Given the description of an element on the screen output the (x, y) to click on. 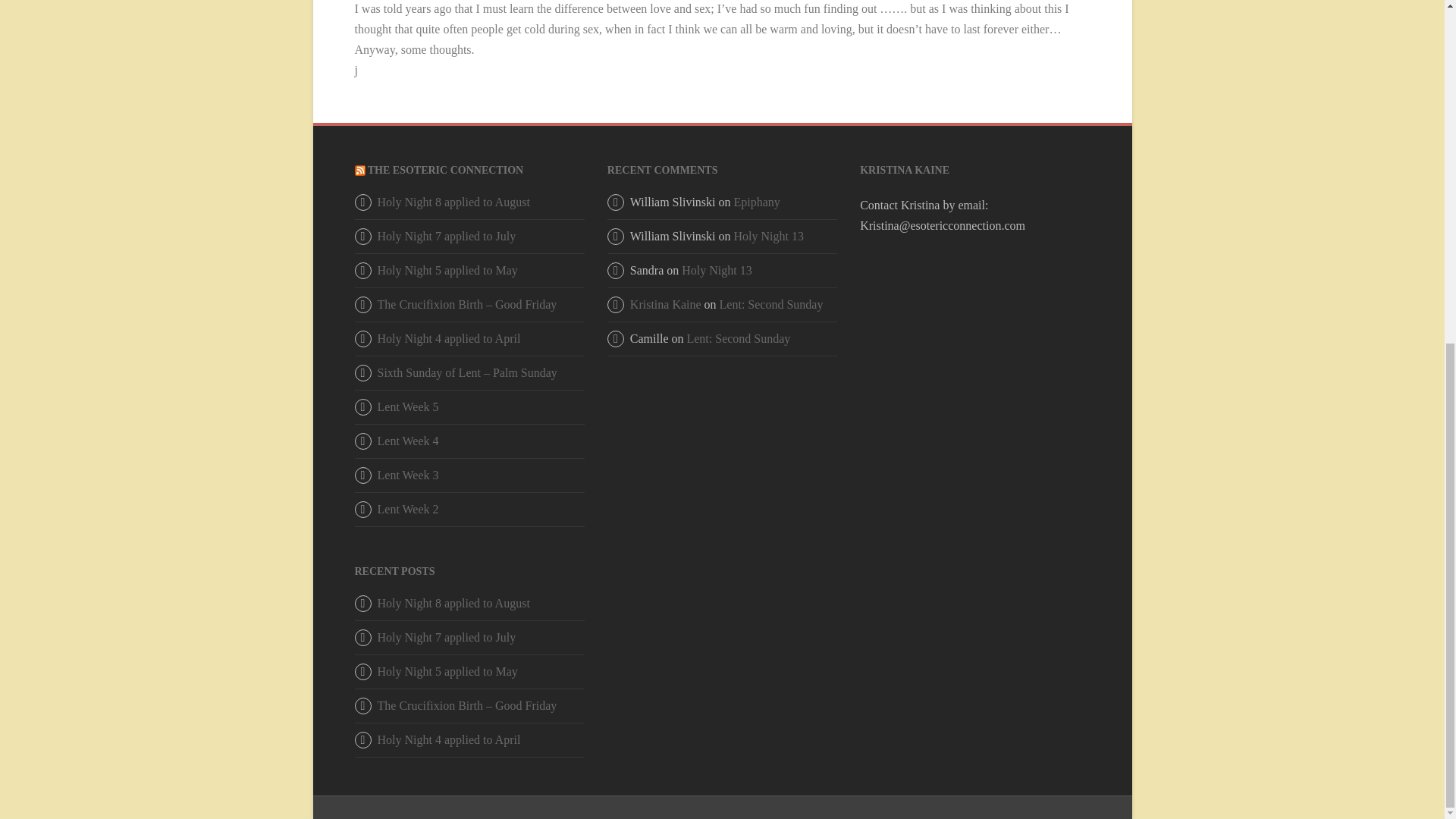
Holy Night 7 applied to July (446, 636)
Holy Night 7 applied to July (446, 236)
Lent Week 2 (408, 508)
Lent Week 4 (408, 440)
Lent Week 5 (408, 406)
Holy Night 4 applied to April (449, 739)
Holy Night 13 (768, 236)
Holy Night 4 applied to April (449, 338)
Holy Night 8 applied to August (453, 603)
Holy Night 5 applied to May (447, 671)
